Given the description of an element on the screen output the (x, y) to click on. 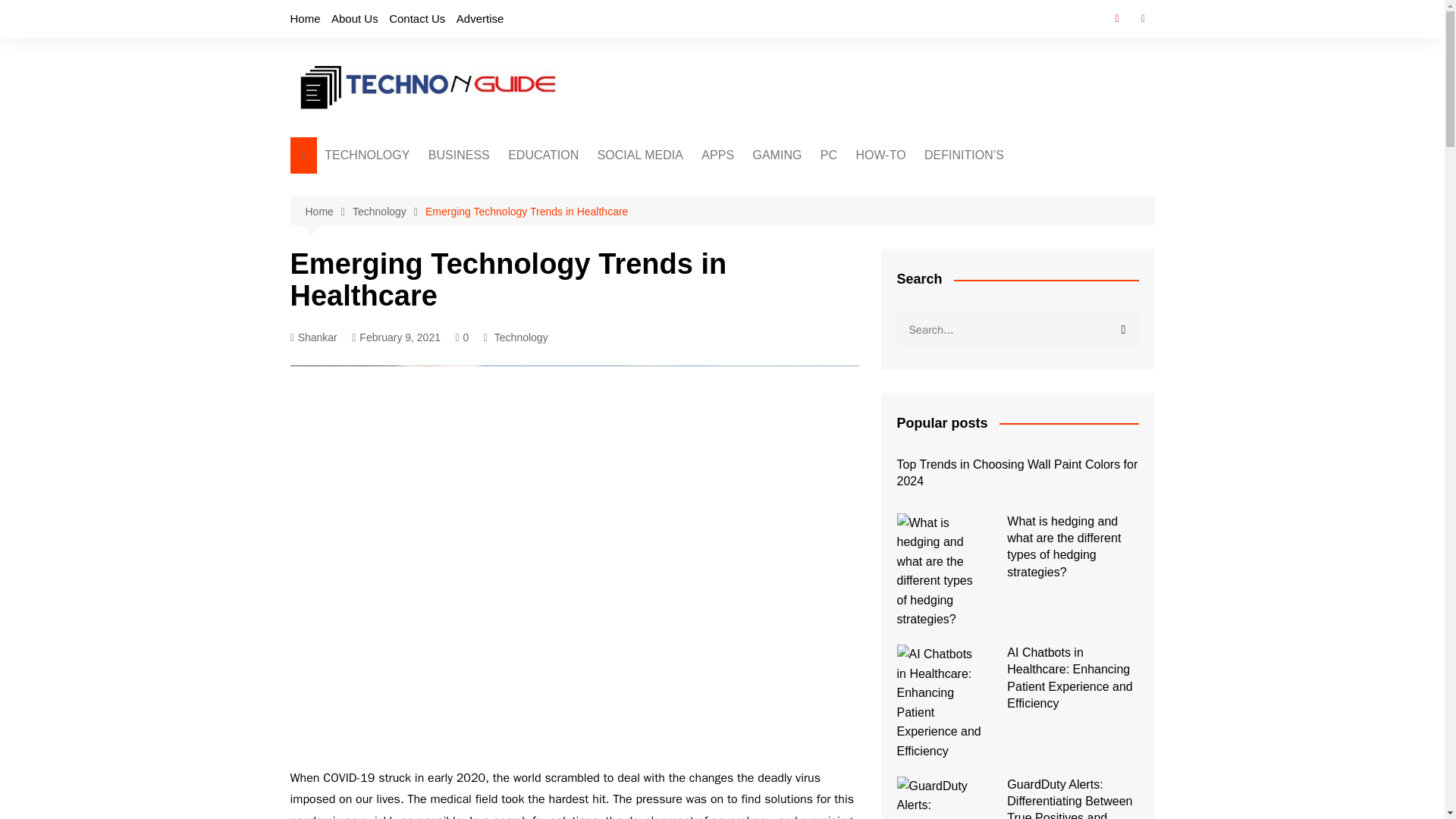
SOCIAL MEDIA (639, 155)
MARKETING (504, 211)
SOFTWARES (777, 186)
HUMAN RESOURCES (504, 260)
ENTERTAINMENT (827, 186)
HOW-TO (881, 155)
Home (304, 18)
CRYPTOCURRENCY (671, 186)
INTERNET (827, 211)
Twitter (1142, 18)
